Given the description of an element on the screen output the (x, y) to click on. 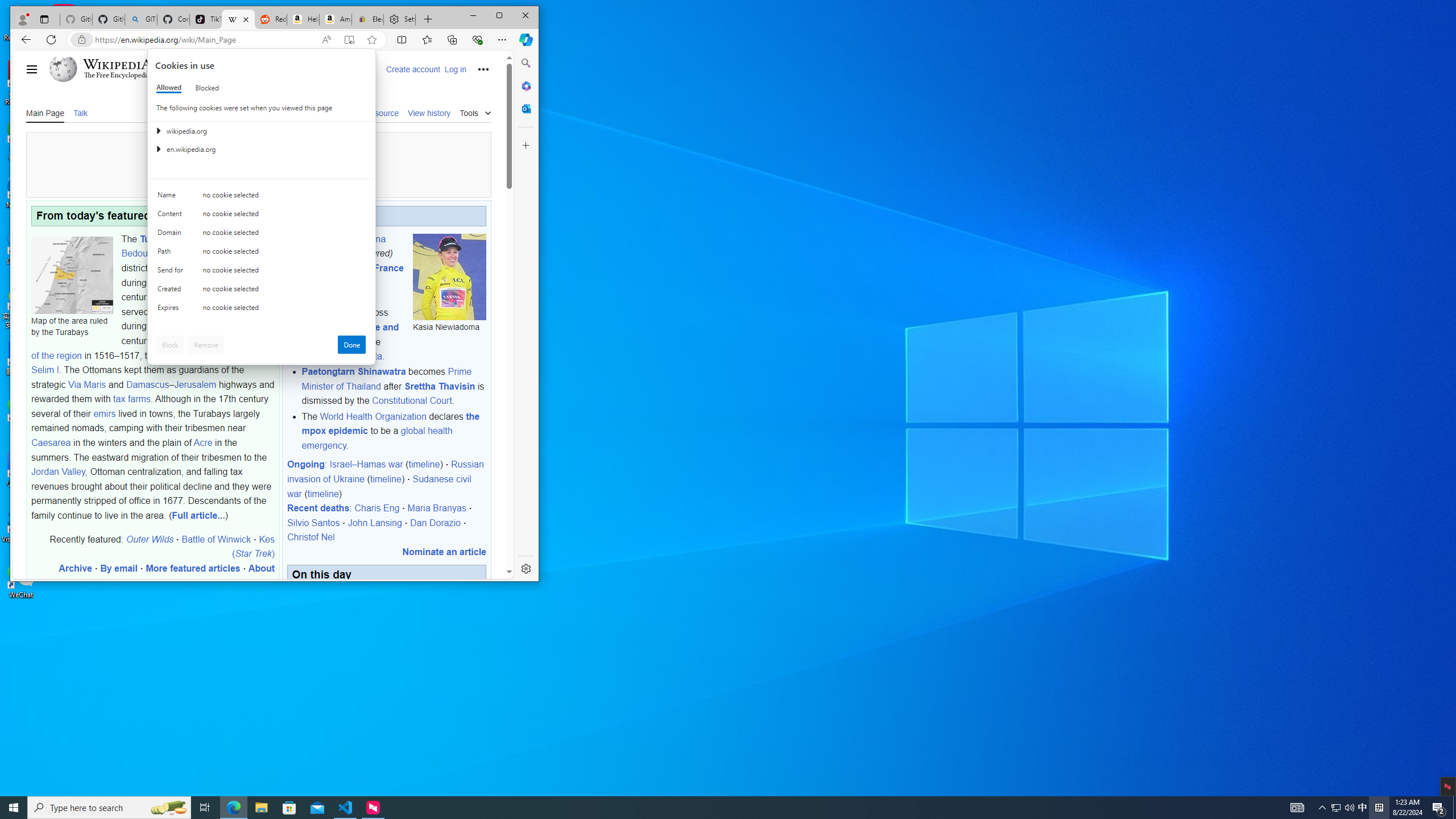
User Promoted Notification Area (1342, 807)
Running applications (707, 807)
Expires (172, 310)
Send for (172, 272)
Blocked (206, 87)
Remove (205, 344)
Domain (172, 235)
Search highlights icon opens search home window (167, 807)
Name (172, 197)
Start (13, 807)
Class: c0153 c0157 c0154 (261, 197)
Show desktop (1454, 807)
Created (172, 291)
